Given the description of an element on the screen output the (x, y) to click on. 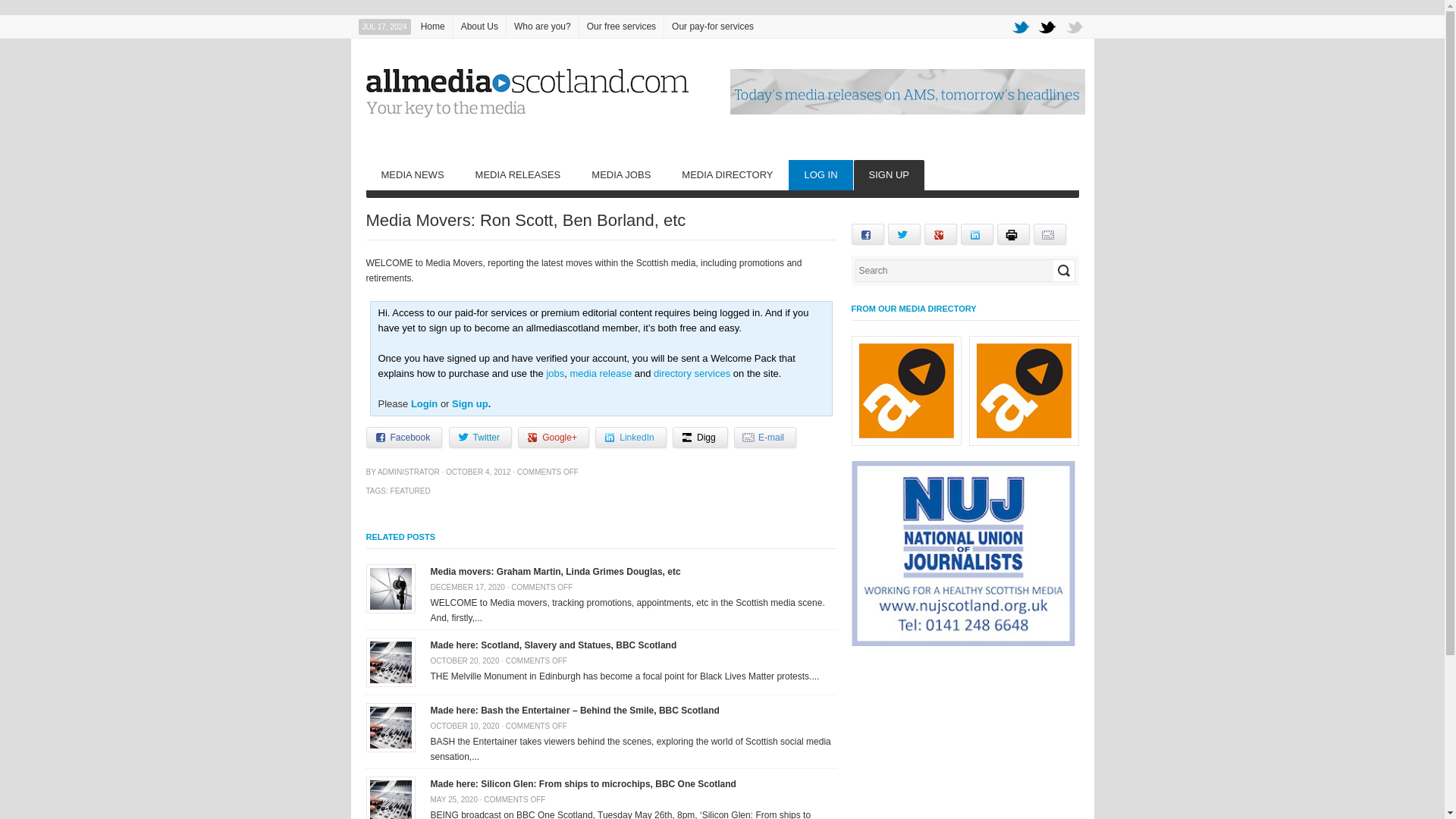
MEDIA NEWS (411, 174)
media release service, media release distribution (518, 174)
MEDIA RELEASES (518, 174)
Share this article on Twitter (480, 436)
Share this article on Digg (700, 436)
Home (432, 26)
MEDIA JOBS (620, 174)
Media release servce (601, 373)
Search (1063, 270)
Who are you? (542, 26)
Media directory (691, 373)
Media jobs (555, 373)
Our free services (621, 26)
Share this article on Facebook (403, 436)
Our pay-for services (712, 26)
